Given the description of an element on the screen output the (x, y) to click on. 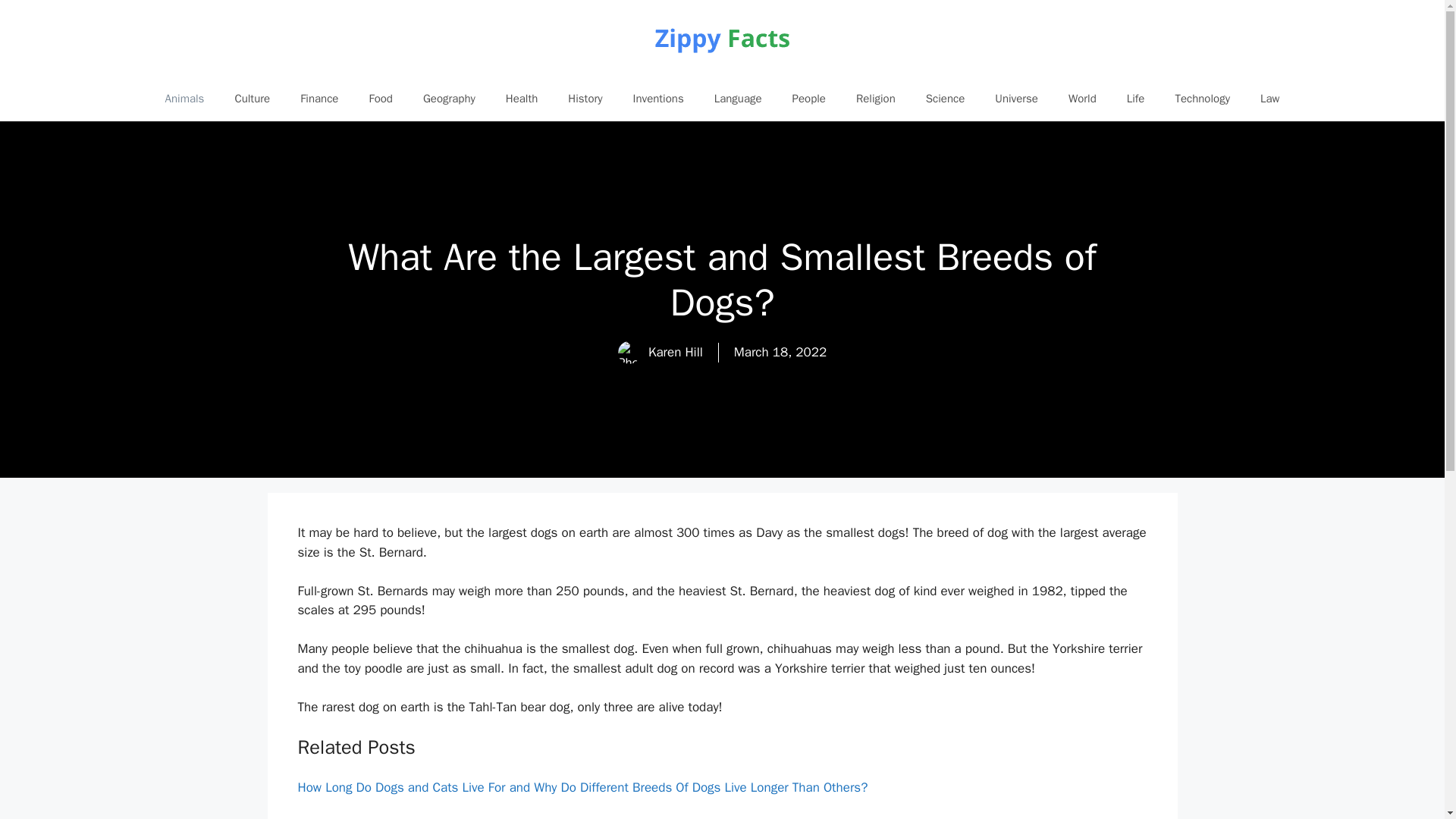
Religion (876, 98)
Finance (319, 98)
World (1082, 98)
People (809, 98)
Inventions (657, 98)
Health (521, 98)
Geography (448, 98)
Food (380, 98)
History (585, 98)
